Given the description of an element on the screen output the (x, y) to click on. 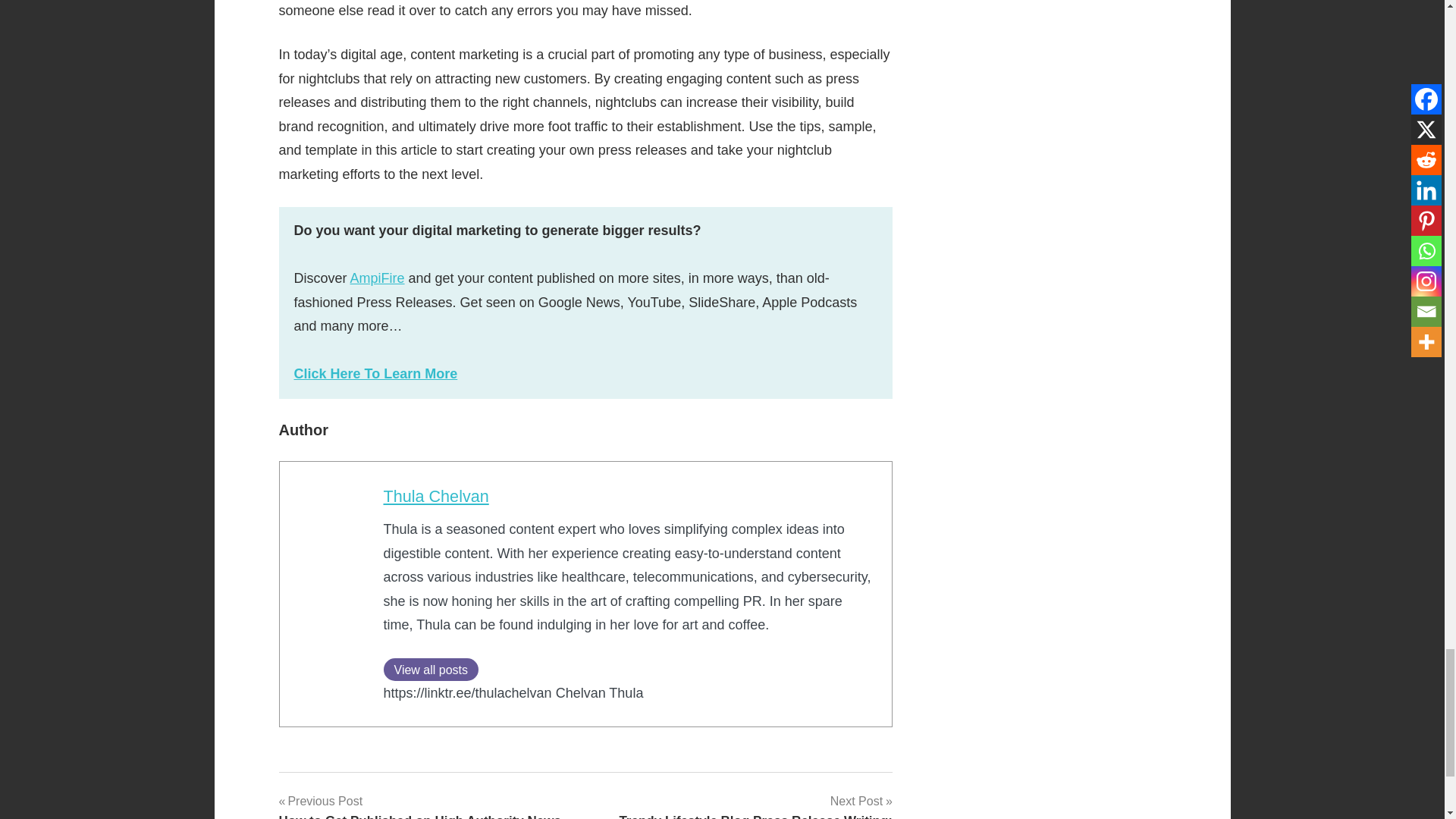
View all posts (431, 669)
Thula Chelvan (436, 496)
Click Here To Learn More (376, 373)
Thula Chelvan (436, 496)
AmpiFire (377, 278)
View all posts (431, 669)
